Given the description of an element on the screen output the (x, y) to click on. 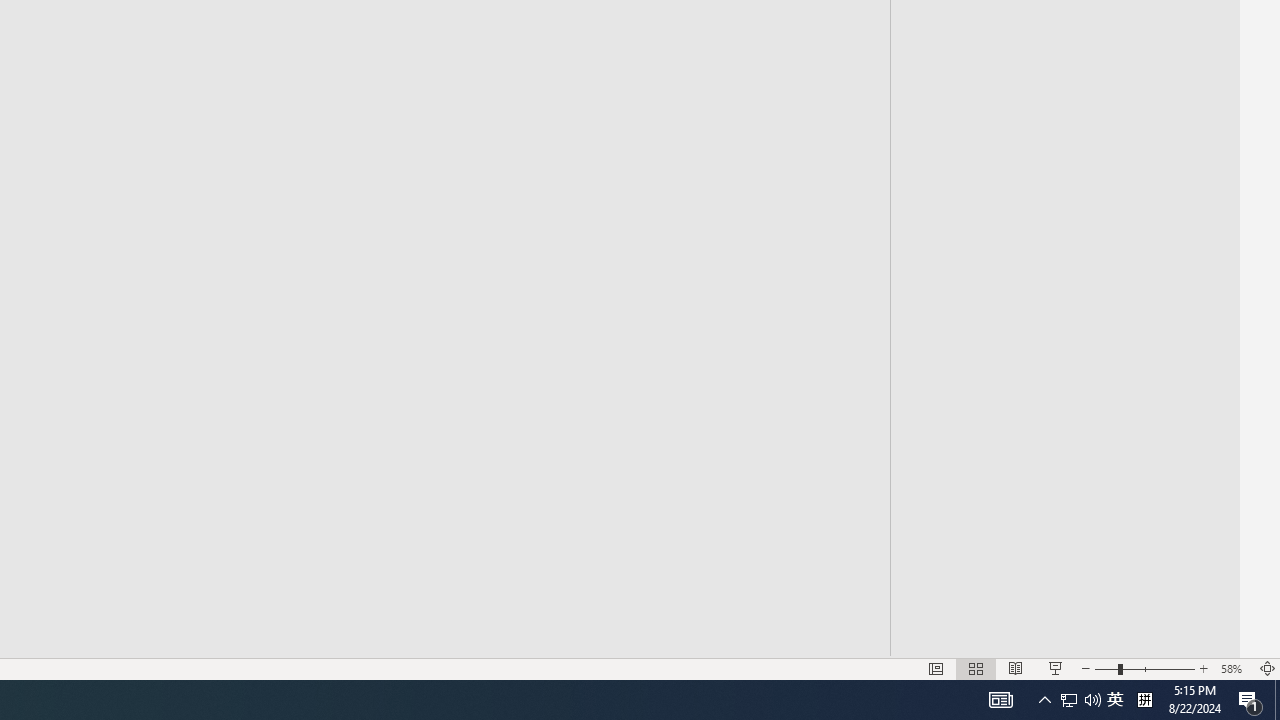
Zoom (1144, 668)
Zoom In (1204, 668)
Slide Sorter (975, 668)
Reading View (1015, 668)
Zoom 58% (1234, 668)
Zoom to Fit  (1267, 668)
Normal (936, 668)
Zoom Out (1105, 668)
